Given the description of an element on the screen output the (x, y) to click on. 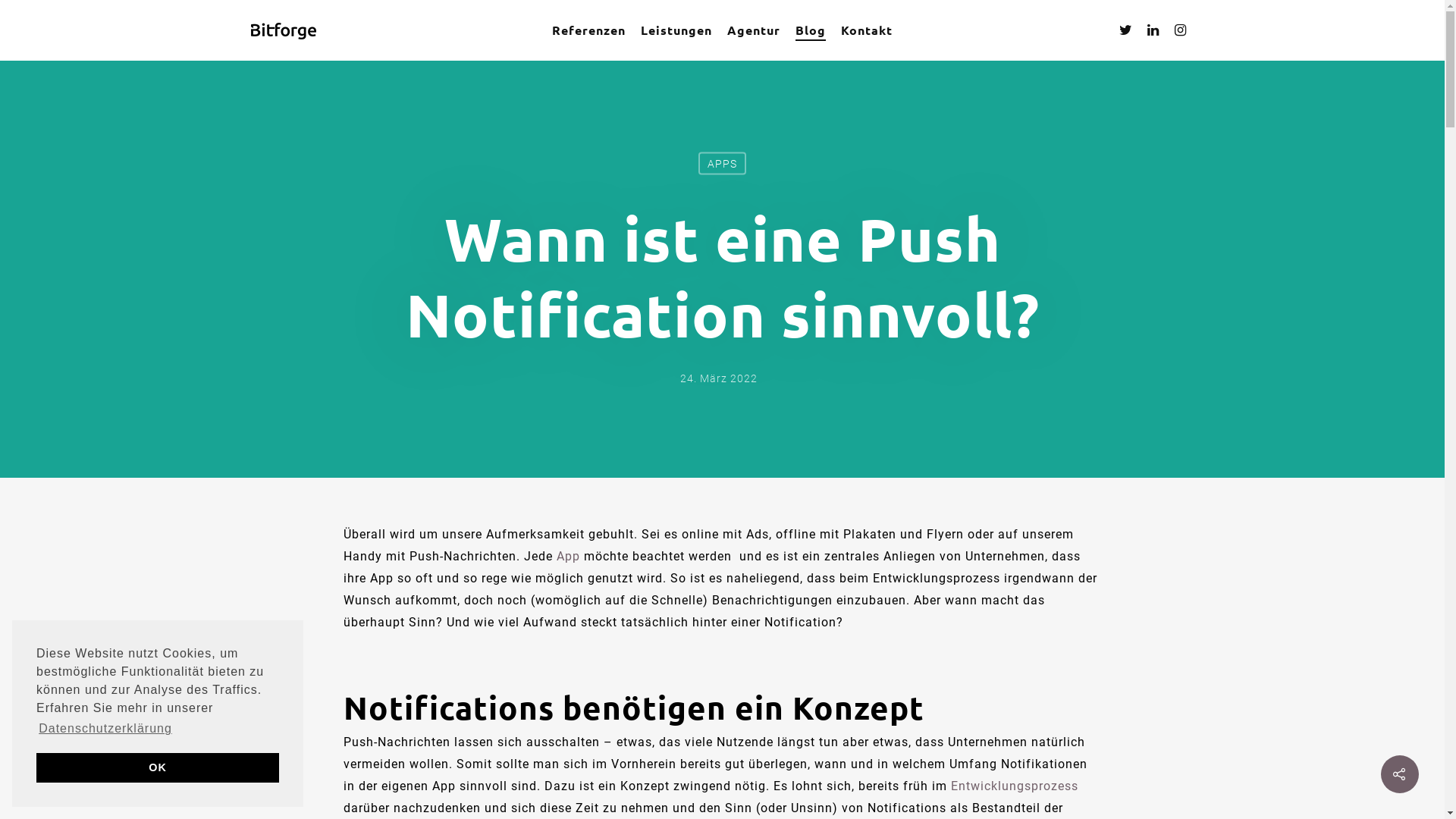
Blog Element type: text (810, 29)
Leistungen Element type: text (676, 29)
Referenzen Element type: text (588, 29)
OK Element type: text (157, 767)
APPS Element type: text (721, 162)
Entwicklungsprozess Element type: text (1014, 785)
App Element type: text (568, 556)
Agentur Element type: text (753, 29)
Kontakt Element type: text (866, 29)
